Given the description of an element on the screen output the (x, y) to click on. 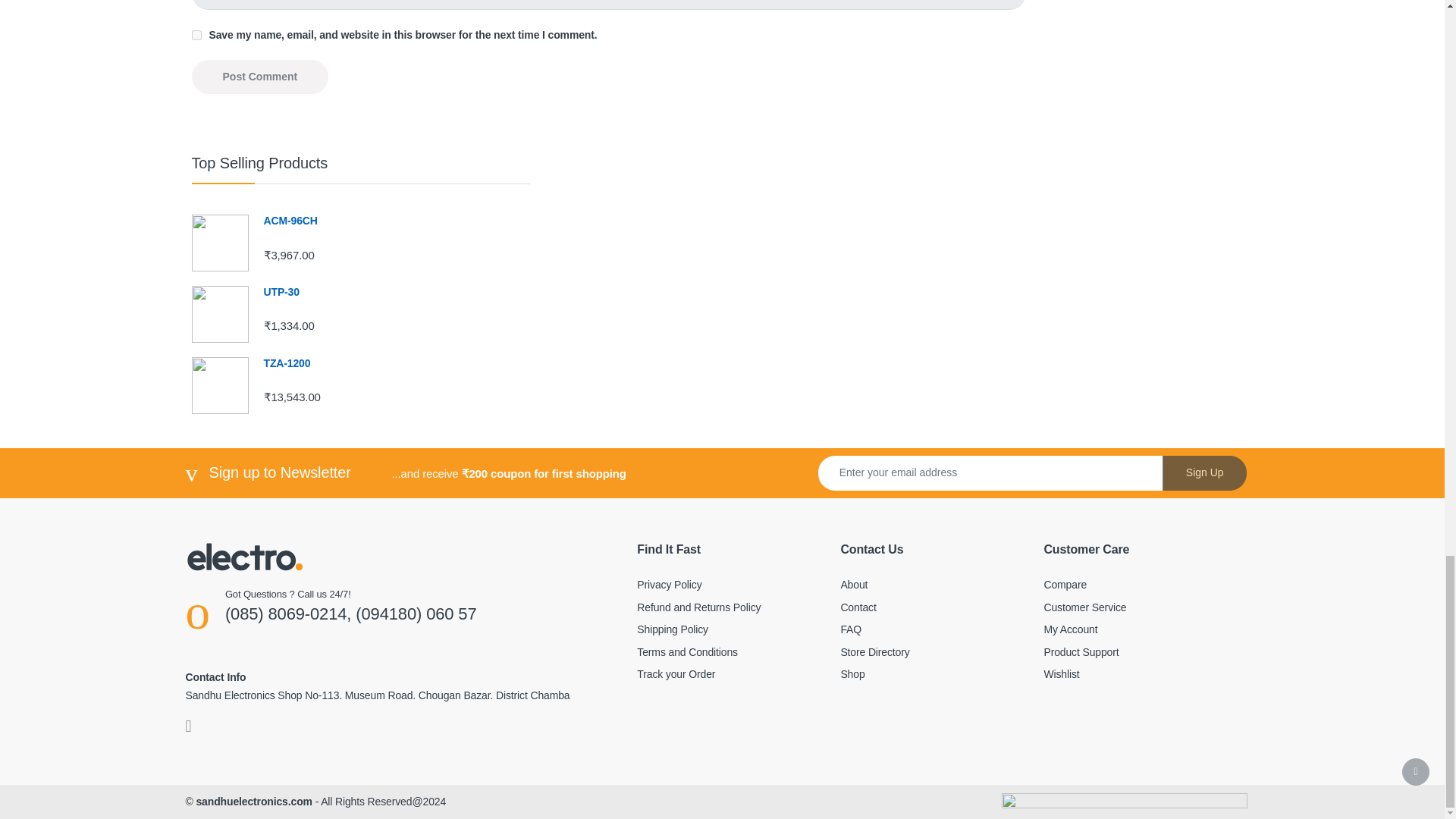
yes (195, 35)
Post Comment (259, 76)
